Given the description of an element on the screen output the (x, y) to click on. 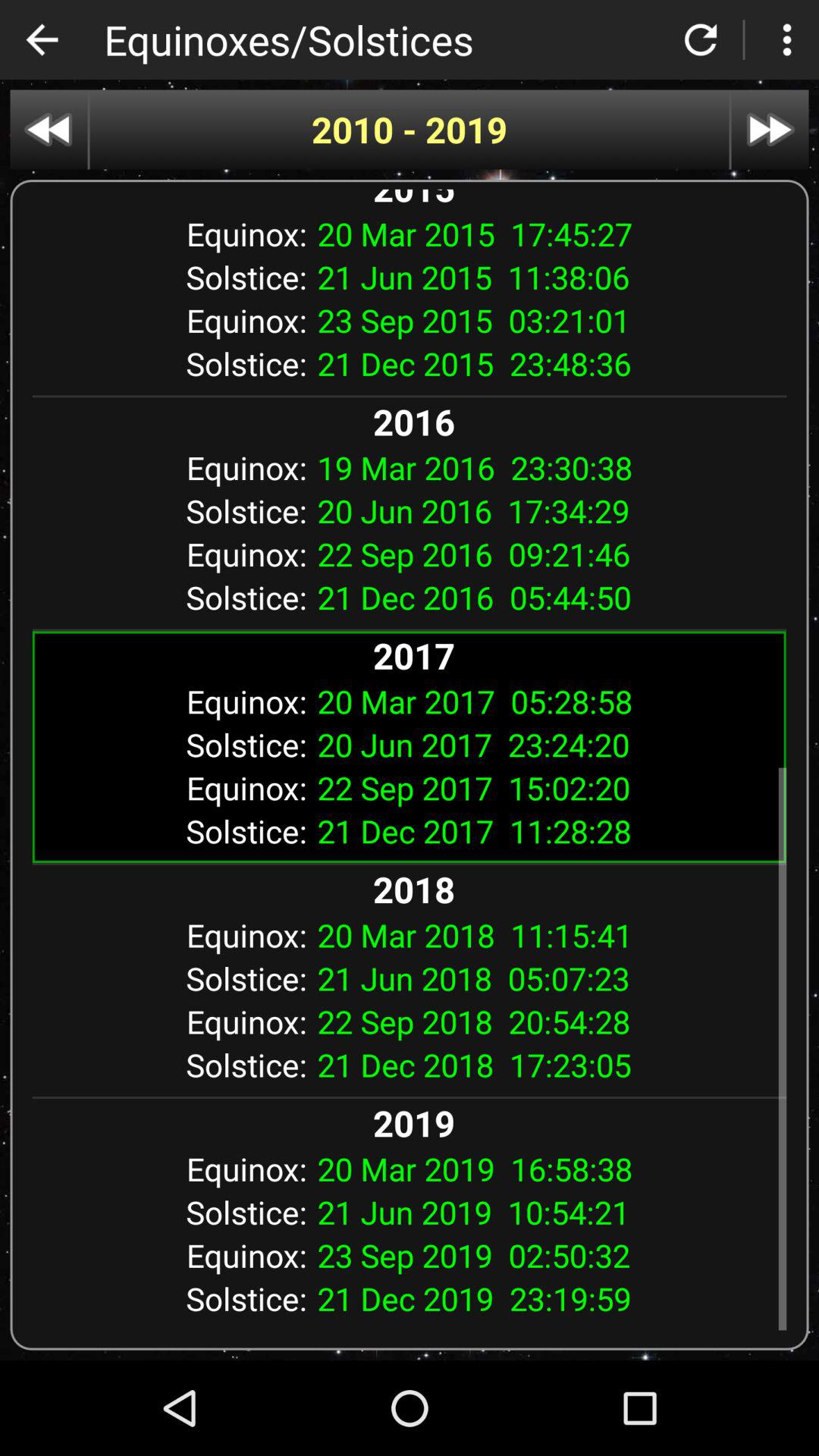
tap 2010 - 2019 item (409, 129)
